Given the description of an element on the screen output the (x, y) to click on. 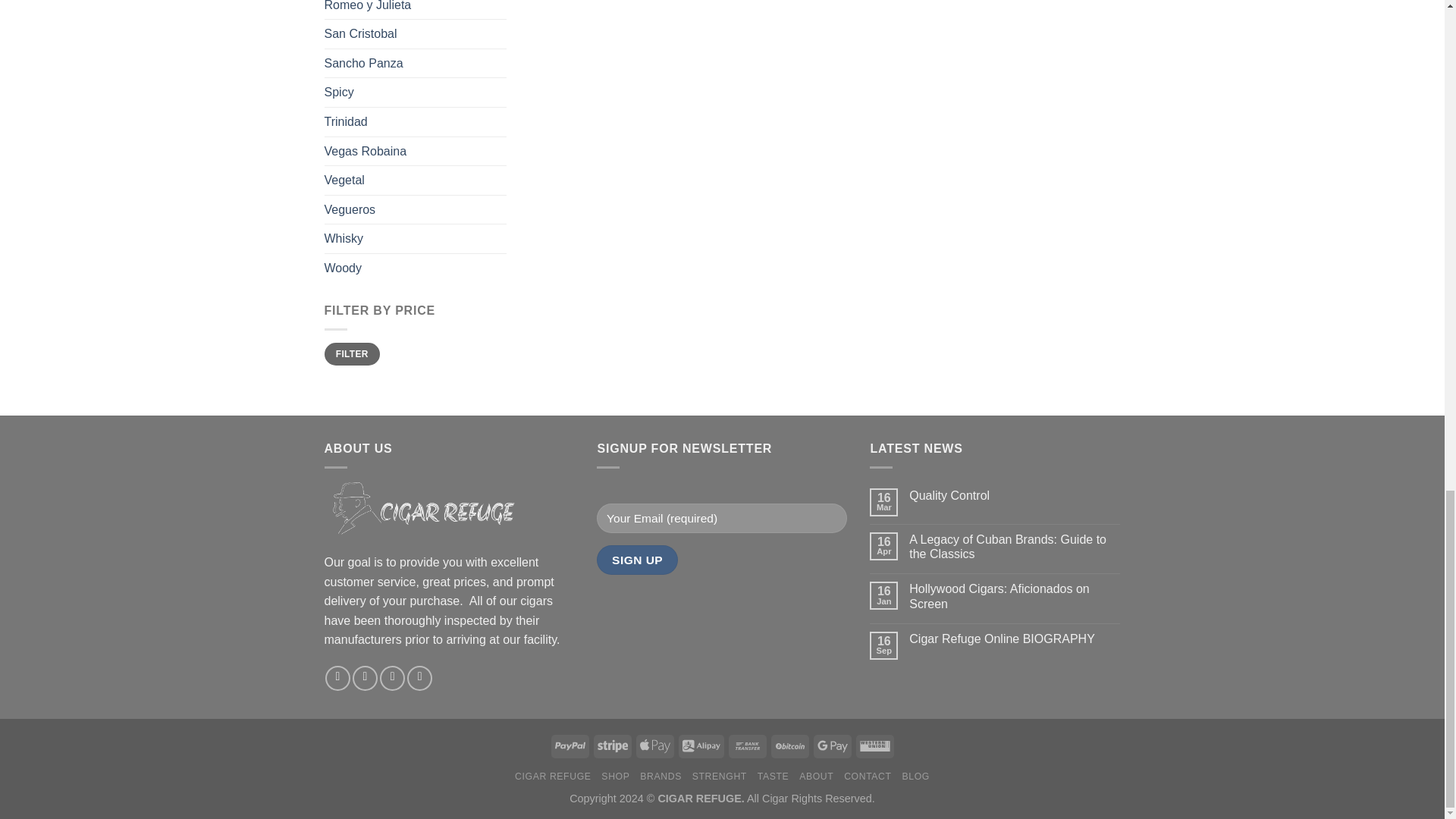
Send us an email (392, 678)
Follow on Telegram (419, 678)
A Legacy of Cuban Brands: Guide to the Classics (1013, 546)
Quality Control (1013, 495)
Follow on Facebook (337, 678)
Sign Up (636, 559)
Cigar Refuge Online BIOGRAPHY (1013, 638)
Hollywood Cigars: Aficionados on Screen (1013, 595)
Follow on Instagram (364, 678)
